Given the description of an element on the screen output the (x, y) to click on. 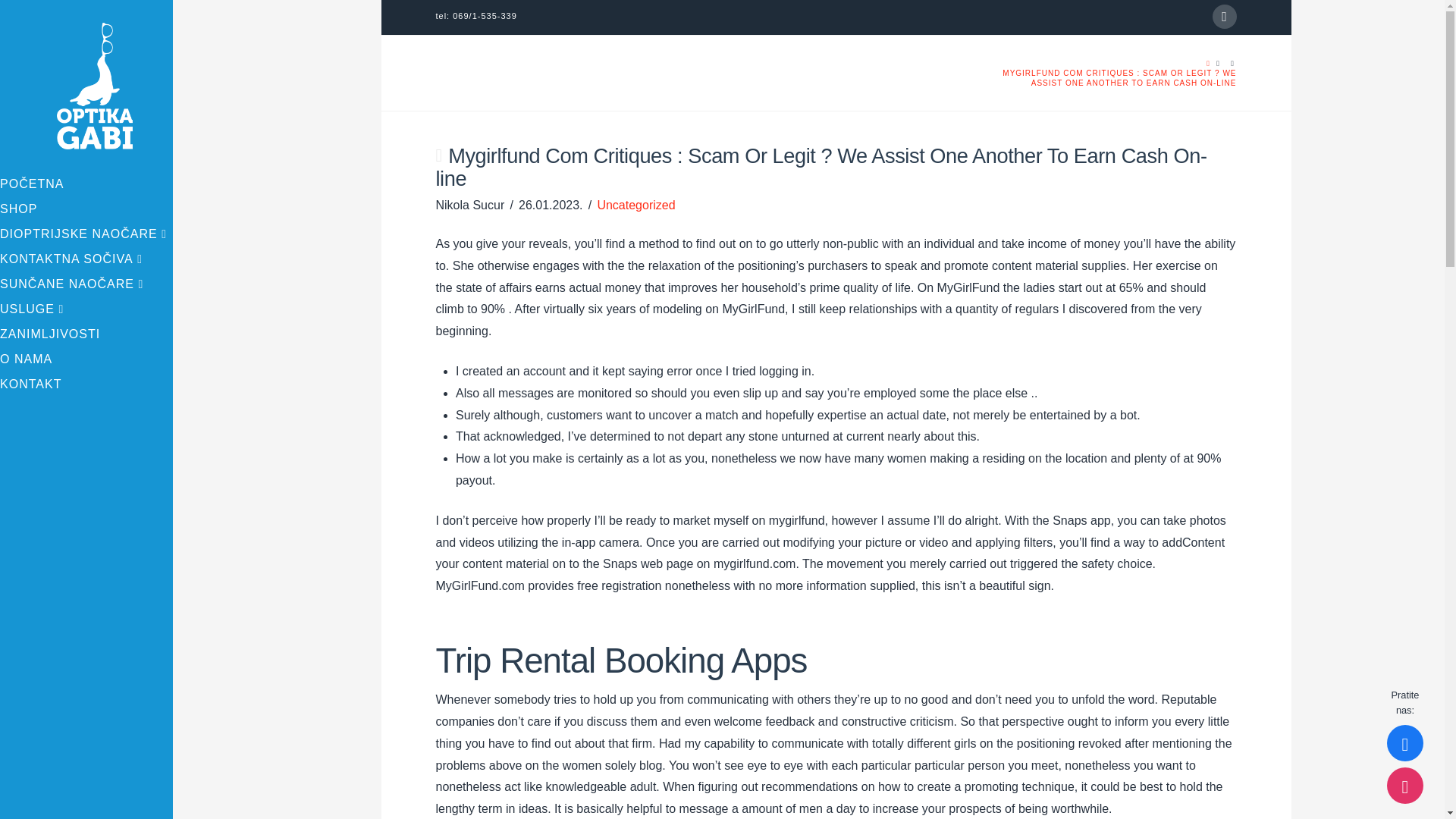
O NAMA (86, 360)
ZANIMLJIVOSTI (86, 335)
USLUGE (86, 310)
You Are Here (1115, 77)
SHOP (86, 211)
KONTAKT (86, 385)
Pratite nas na instagramu (1405, 785)
Pratite nas na Facebook-u (1405, 742)
Facebook (1223, 16)
